Given the description of an element on the screen output the (x, y) to click on. 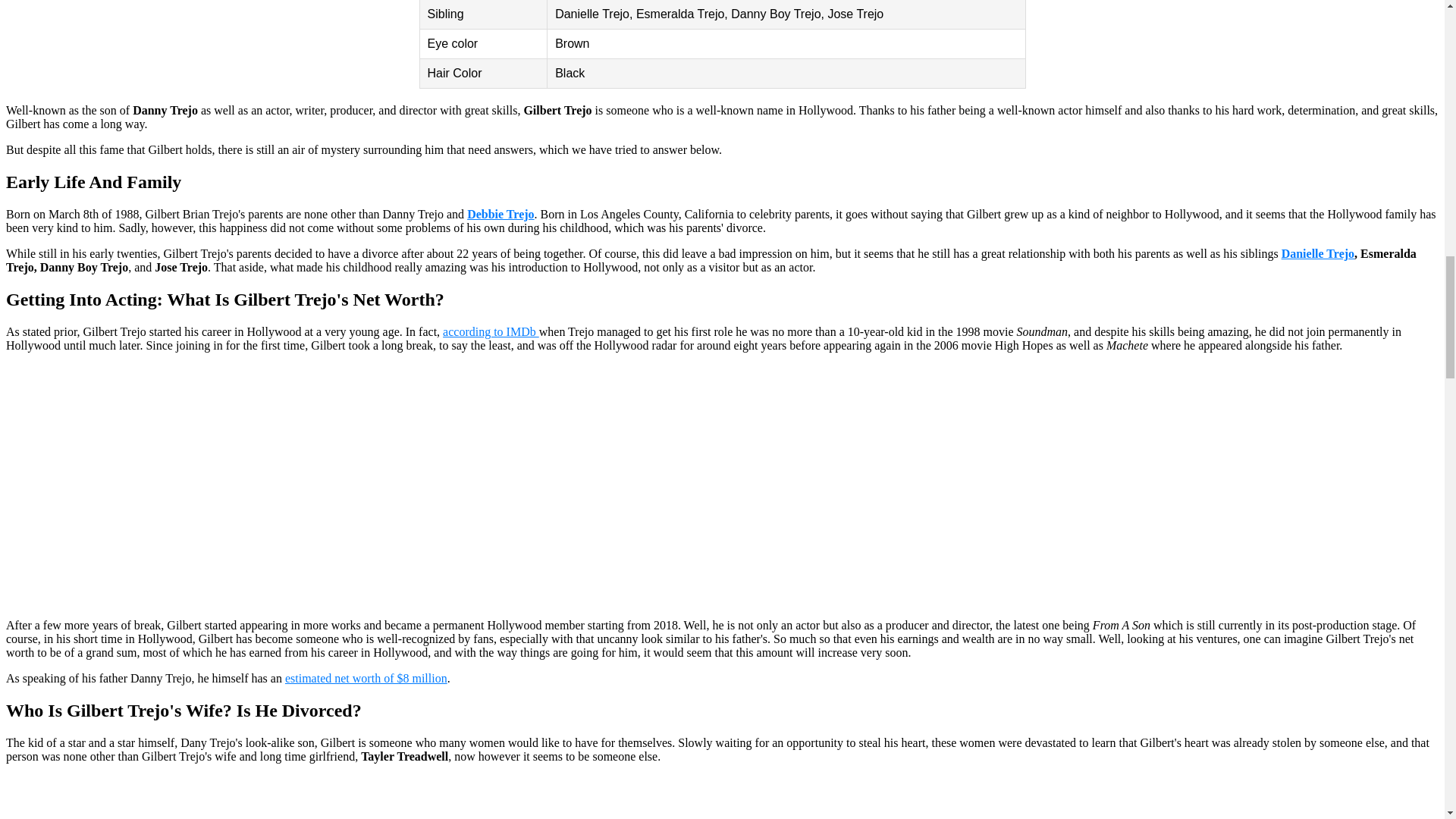
Danielle Trejo (1317, 253)
Debbie Trejo (500, 214)
according to IMDb (490, 331)
